Given the description of an element on the screen output the (x, y) to click on. 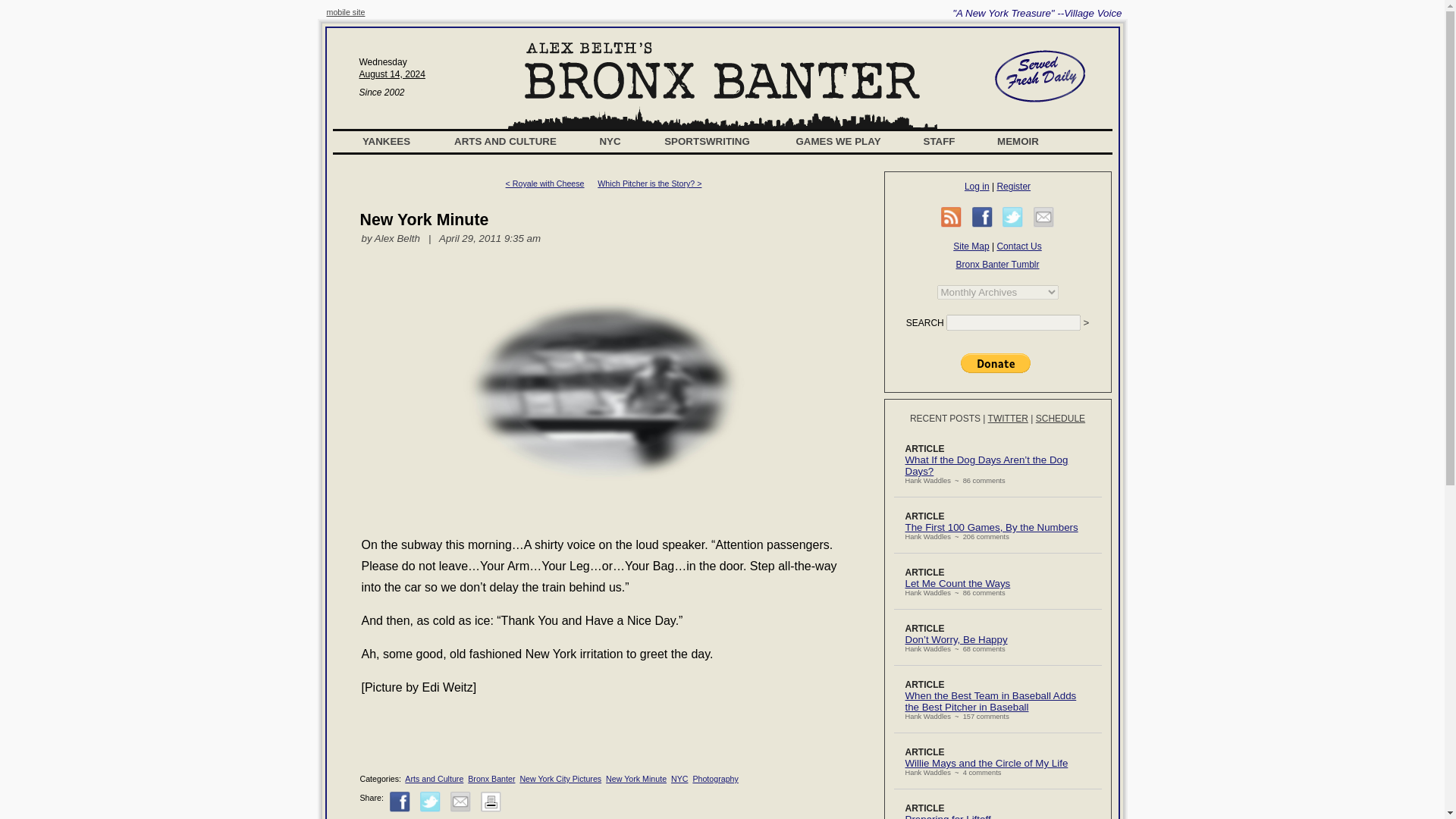
mobile site (345, 11)
Permanent link to Willie Mays and the Circle of My Life (986, 763)
Share on Twitter (1013, 217)
Permanent link to The First 100 Games, By the Numbers (991, 527)
Print This Post (490, 801)
Print This Post (490, 809)
Share via email (1043, 217)
NYC (610, 141)
Share on Facebook (400, 801)
Share via email (459, 801)
